Given the description of an element on the screen output the (x, y) to click on. 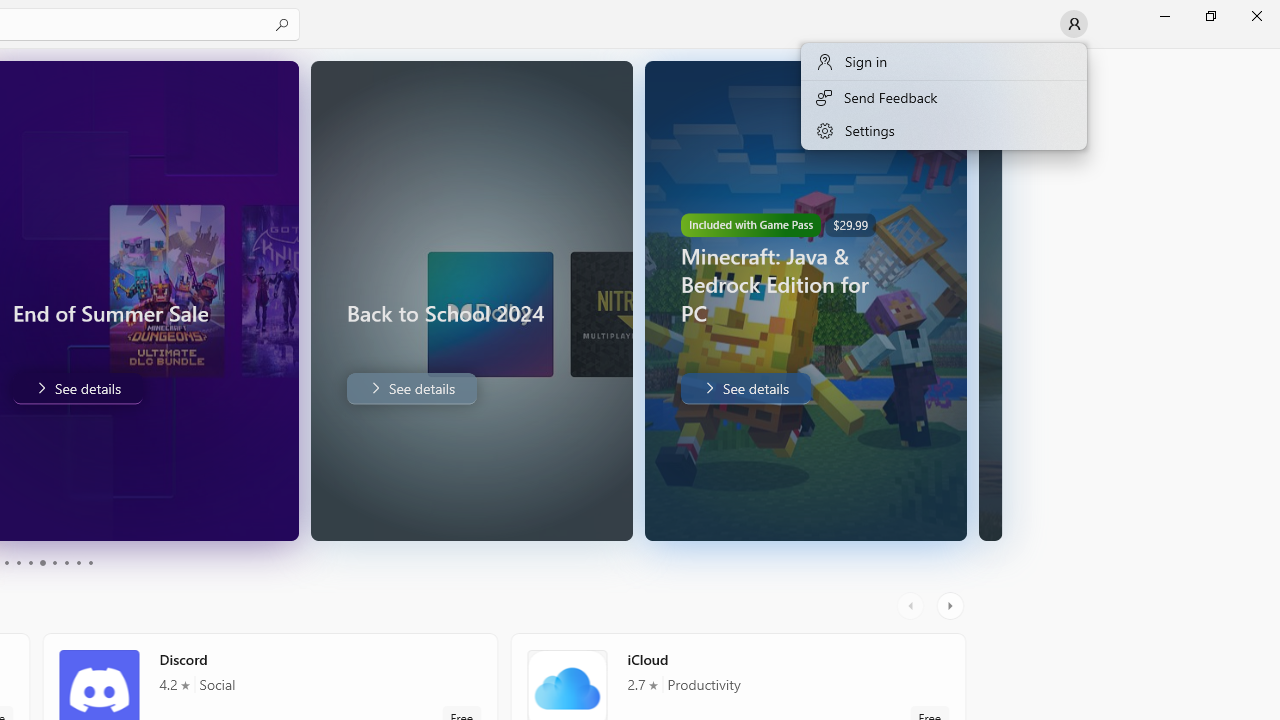
Page 8 (65, 562)
Page 7 (54, 562)
Page 3 (5, 562)
